Given the description of an element on the screen output the (x, y) to click on. 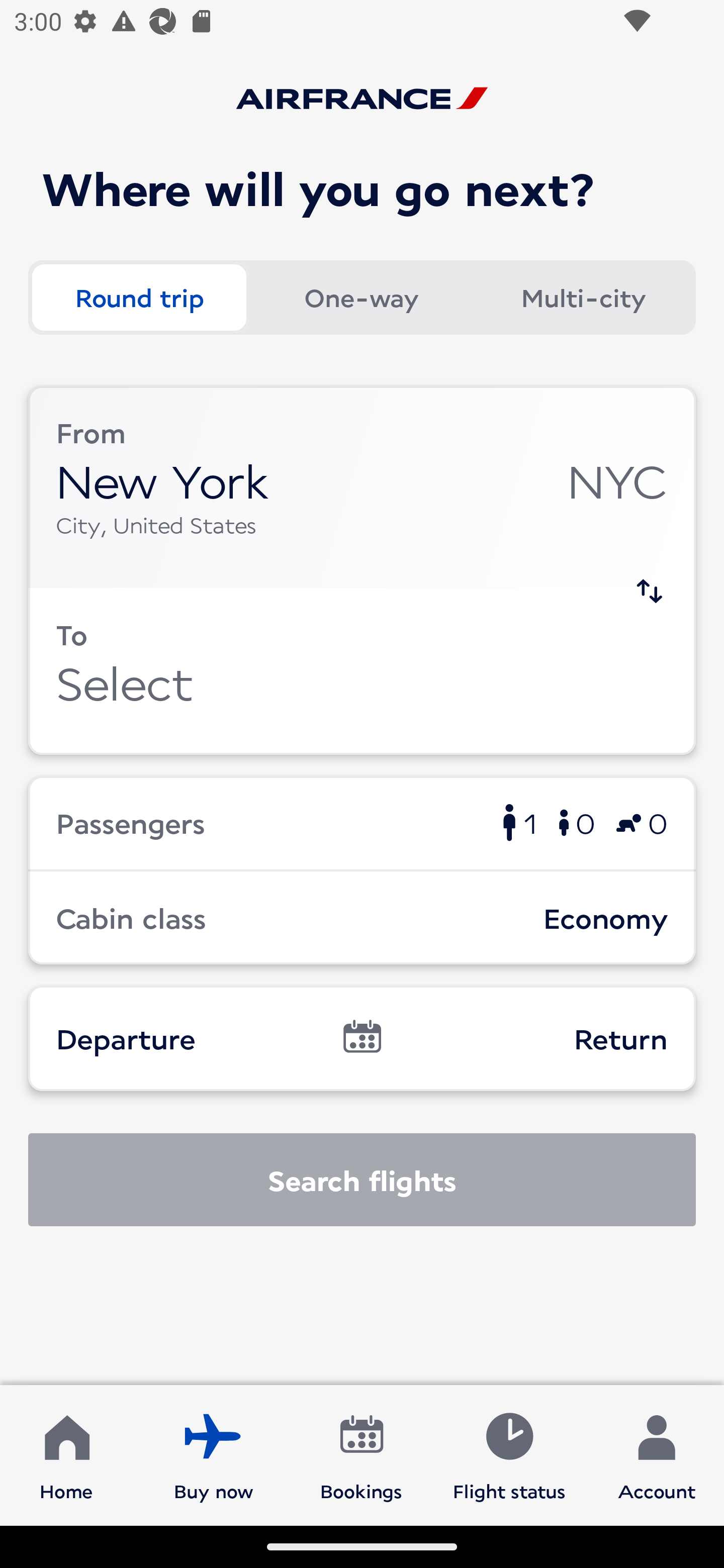
Round trip (139, 297)
One-way (361, 297)
Multi-city (583, 297)
From New York NYC City, United States (361, 486)
To Select (361, 671)
Passengers 1 0 0 (361, 822)
Cabin class Economy (361, 917)
Departure Return (361, 1038)
Search flights (361, 1179)
Home (66, 1454)
Bookings (361, 1454)
Flight status (509, 1454)
Account (657, 1454)
